Given the description of an element on the screen output the (x, y) to click on. 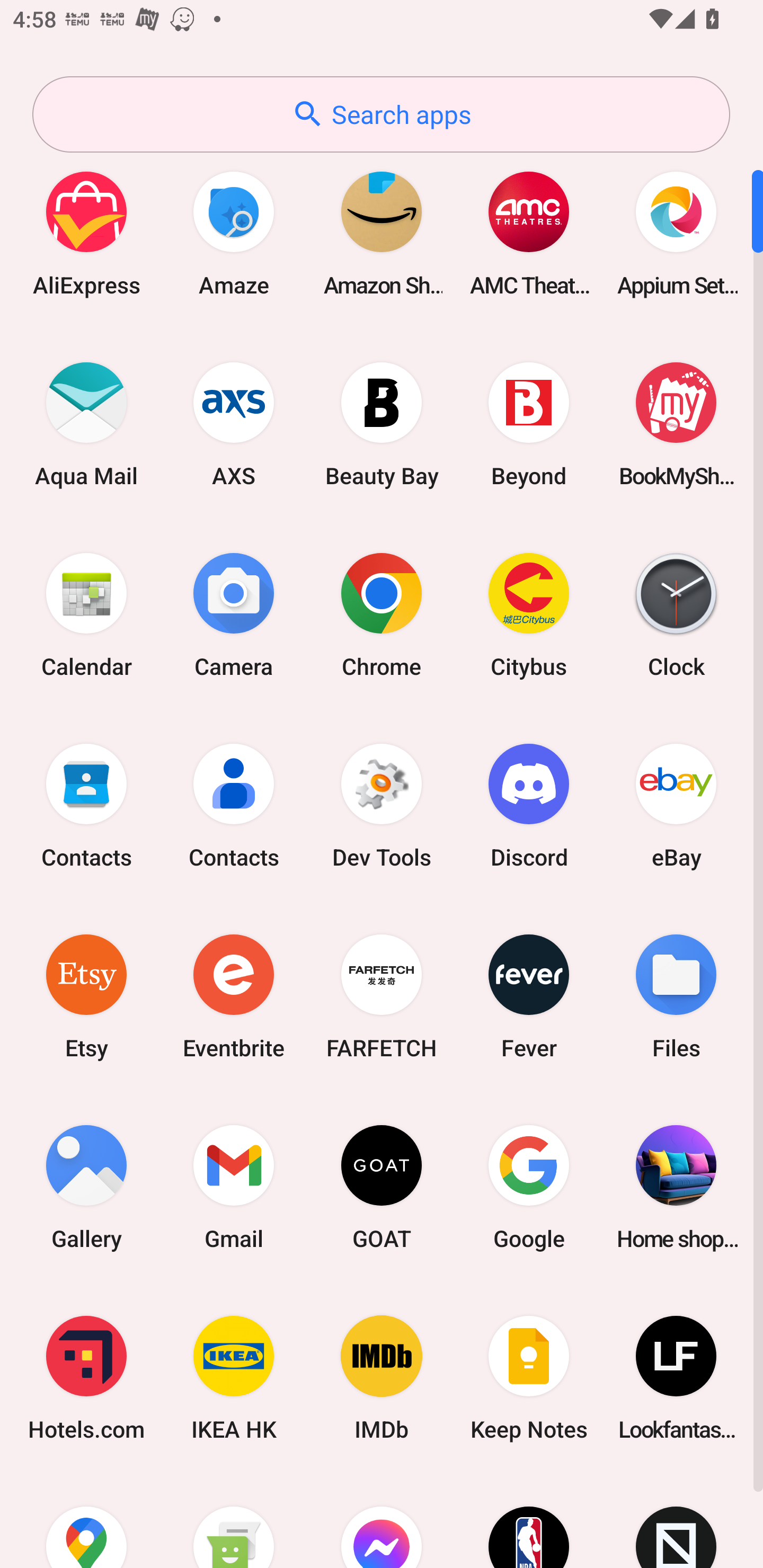
  Search apps (381, 114)
AliExpress (86, 233)
Amaze (233, 233)
Amazon Shopping (381, 233)
AMC Theatres (528, 233)
Appium Settings (676, 233)
Aqua Mail (86, 424)
AXS (233, 424)
Beauty Bay (381, 424)
Beyond (528, 424)
BookMyShow (676, 424)
Calendar (86, 614)
Camera (233, 614)
Chrome (381, 614)
Citybus (528, 614)
Clock (676, 614)
Contacts (86, 805)
Contacts (233, 805)
Dev Tools (381, 805)
Discord (528, 805)
eBay (676, 805)
Etsy (86, 996)
Eventbrite (233, 996)
FARFETCH (381, 996)
Fever (528, 996)
Files (676, 996)
Gallery (86, 1186)
Gmail (233, 1186)
GOAT (381, 1186)
Google (528, 1186)
Home shopping (676, 1186)
Hotels.com (86, 1377)
IKEA HK (233, 1377)
IMDb (381, 1377)
Keep Notes (528, 1377)
Lookfantastic (676, 1377)
Maps (86, 1520)
Messaging (233, 1520)
Messenger (381, 1520)
NBA (528, 1520)
Novelship (676, 1520)
